Given the description of an element on the screen output the (x, y) to click on. 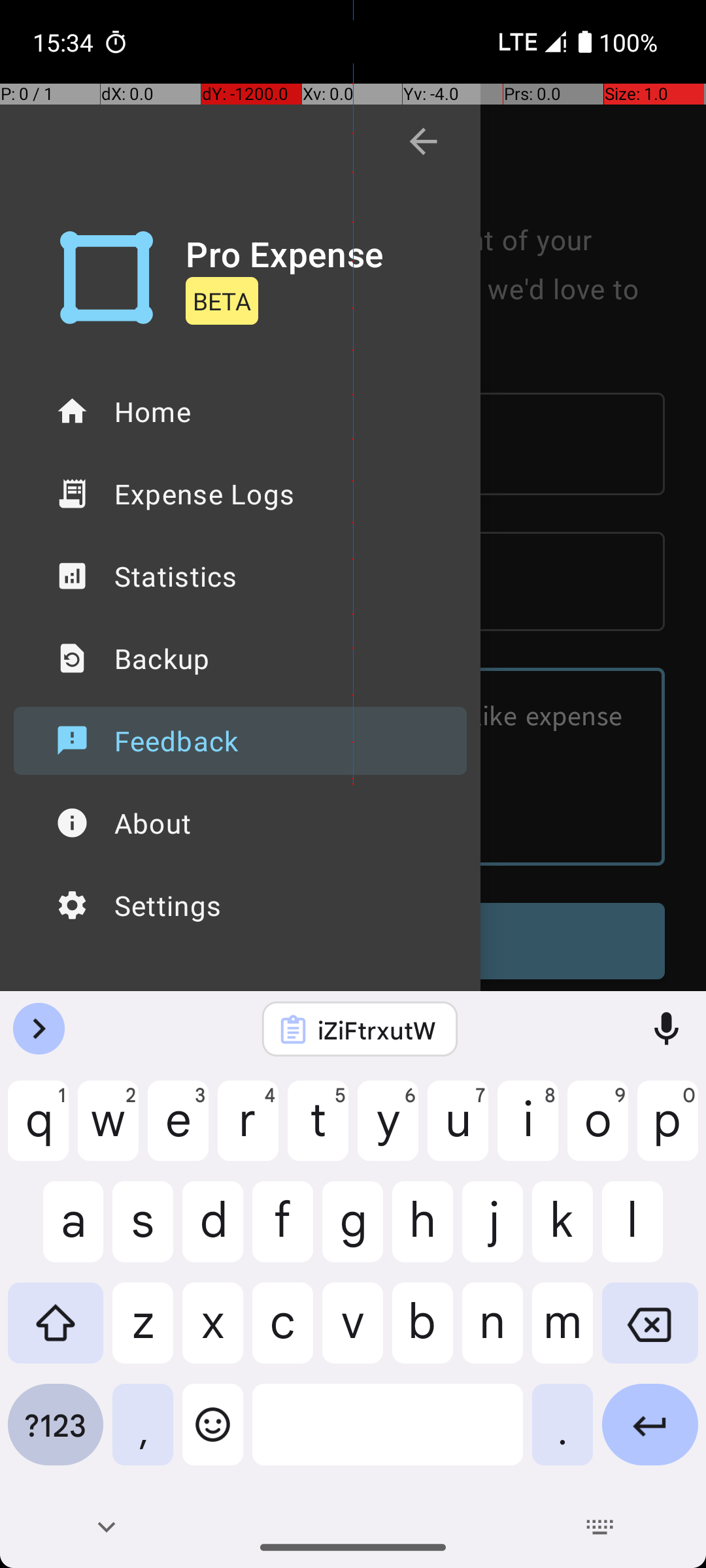
BETA Element type: android.widget.TextView (221, 300)
Statistics Element type: android.widget.CheckedTextView (239, 576)
Backup Element type: android.widget.CheckedTextView (239, 658)
iZiFtrxutW Element type: android.widget.TextView (376, 1029)
